Given the description of an element on the screen output the (x, y) to click on. 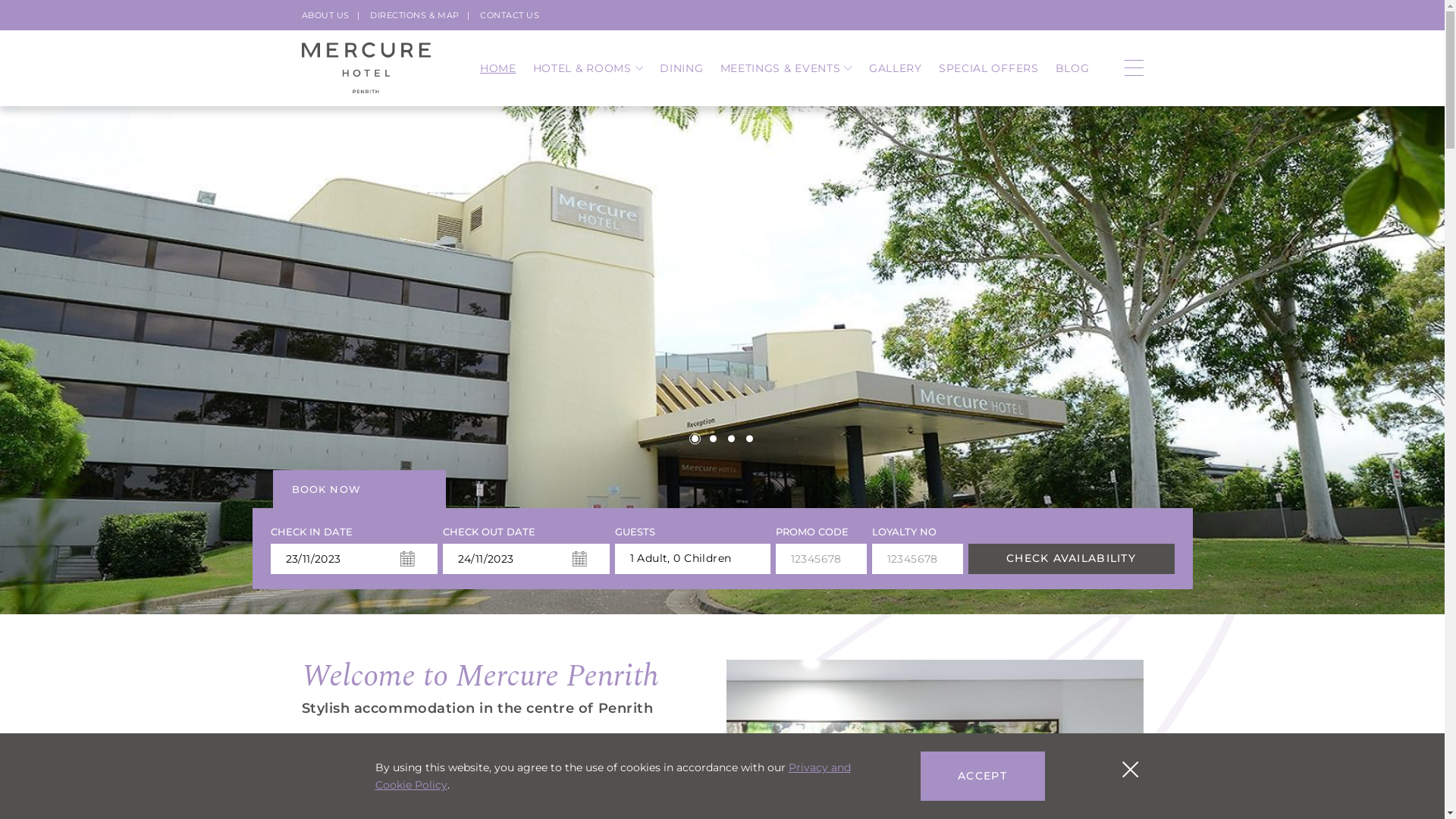
1 Adult, 0 Children Element type: text (691, 558)
BLOG Element type: text (1072, 68)
GALLERY Element type: text (895, 68)
CONTACT US Element type: text (509, 14)
BOOK NOW Element type: text (359, 489)
DIRECTIONS & MAP Element type: text (414, 14)
ABOUT US Element type: text (325, 14)
MEETINGS & EVENTS Element type: text (786, 68)
SPECIAL OFFERS Element type: text (988, 68)
HOME Element type: text (498, 68)
ACCEPT Element type: text (982, 775)
Privacy and Cookie Policy Element type: text (612, 775)
DINING Element type: text (680, 68)
HOTEL & ROOMS Element type: text (588, 68)
CHECK AVAILABILITY Element type: text (1070, 558)
